Given the description of an element on the screen output the (x, y) to click on. 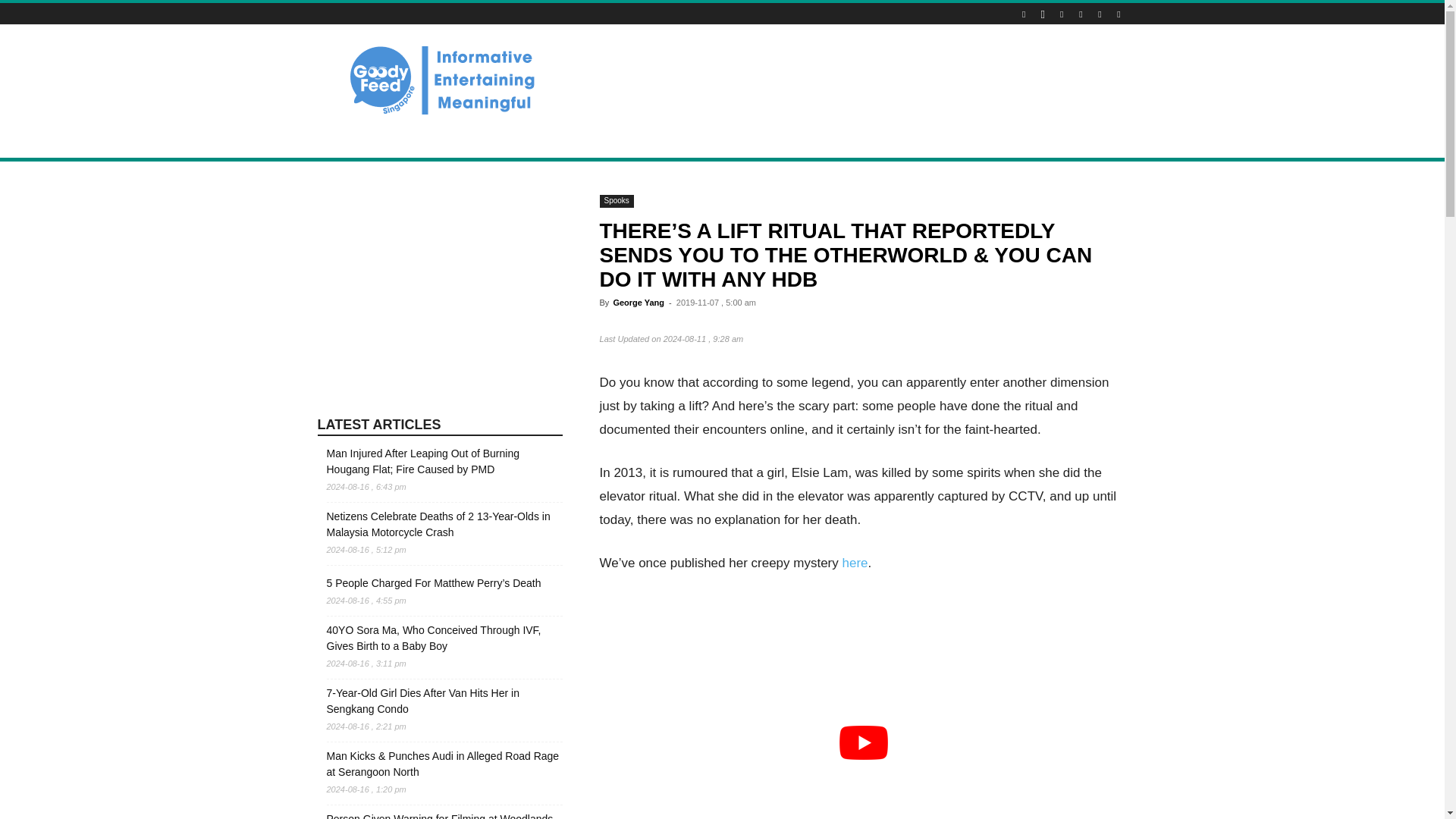
TECH (776, 139)
DEALS (461, 139)
ENTERTAINMENT (584, 139)
LAUGHS (663, 139)
FEATURED (885, 139)
LIFESTYLE (400, 139)
SPOOKS (724, 139)
FOOD (511, 139)
WORK (824, 139)
NEWS (341, 139)
